Given the description of an element on the screen output the (x, y) to click on. 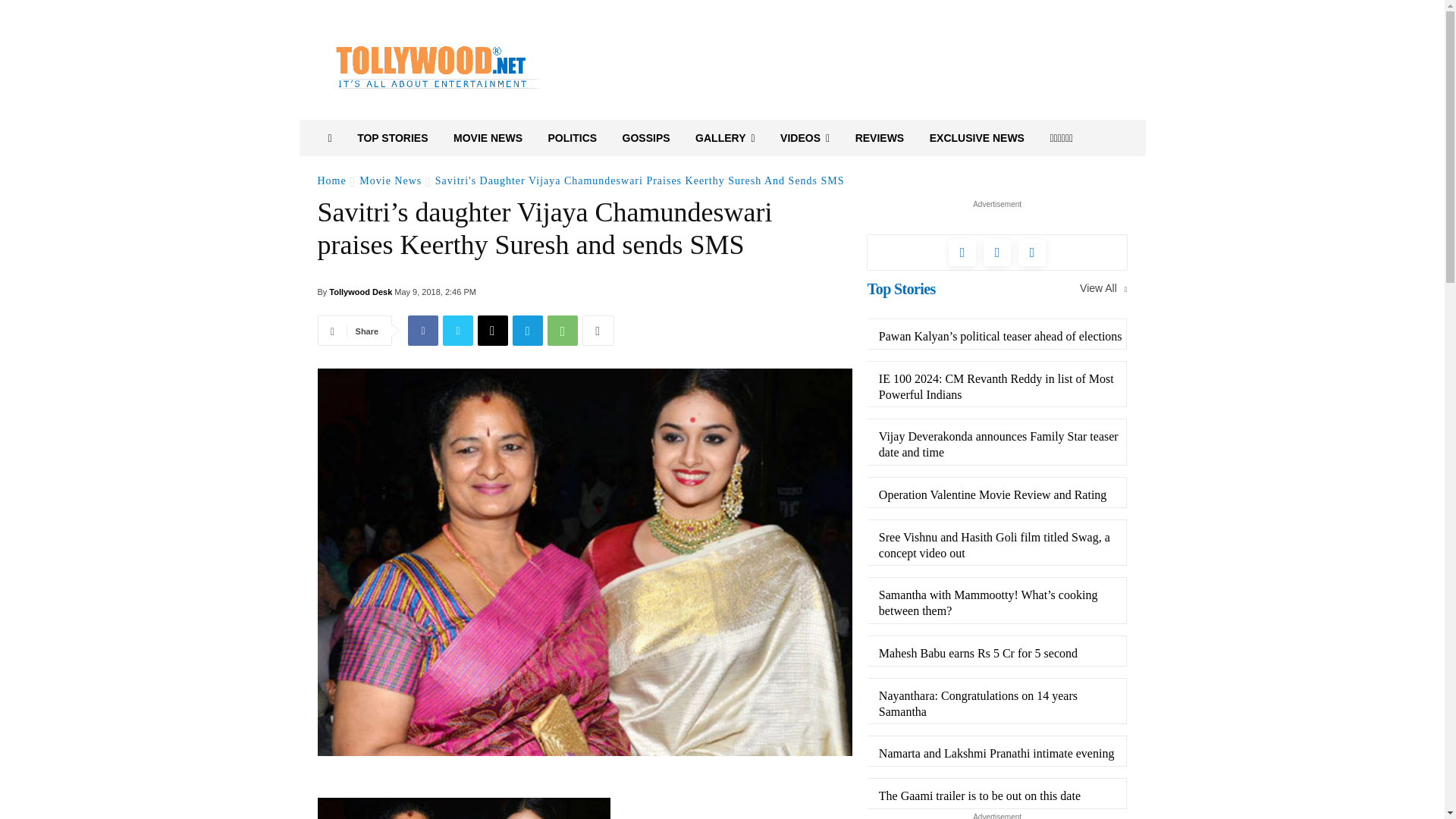
More (598, 330)
WhatsApp (562, 330)
Twitter (457, 330)
Telegram (527, 330)
View all posts in Movie News (390, 180)
Copy URL (492, 330)
Facebook (422, 330)
